Given the description of an element on the screen output the (x, y) to click on. 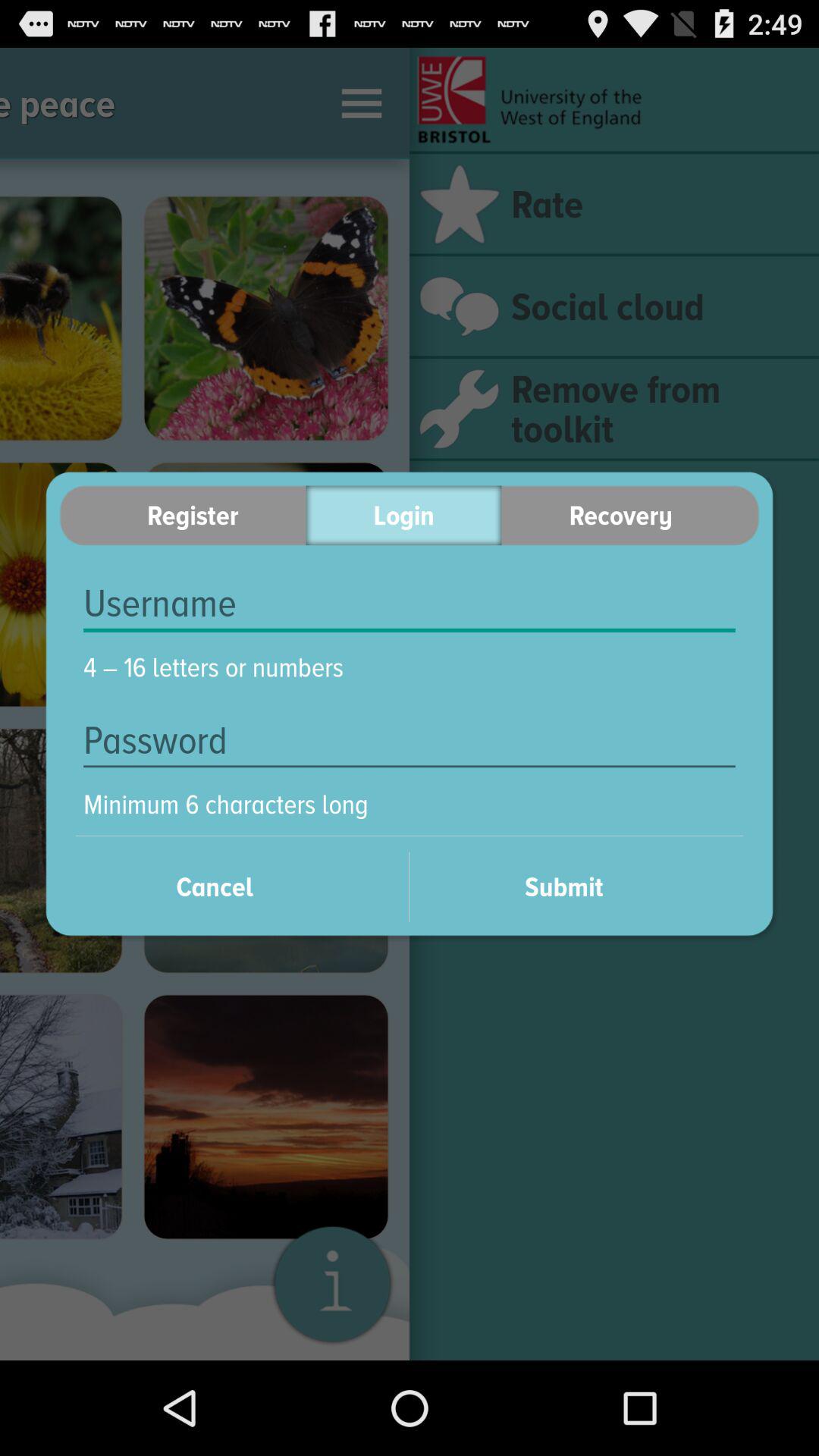
flip until submit item (584, 886)
